Given the description of an element on the screen output the (x, y) to click on. 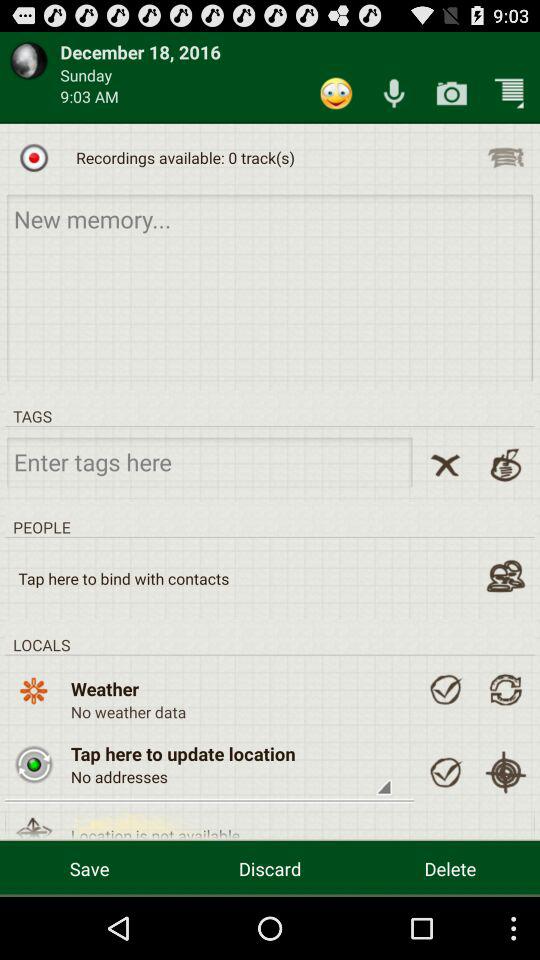
memory option (269, 286)
